Given the description of an element on the screen output the (x, y) to click on. 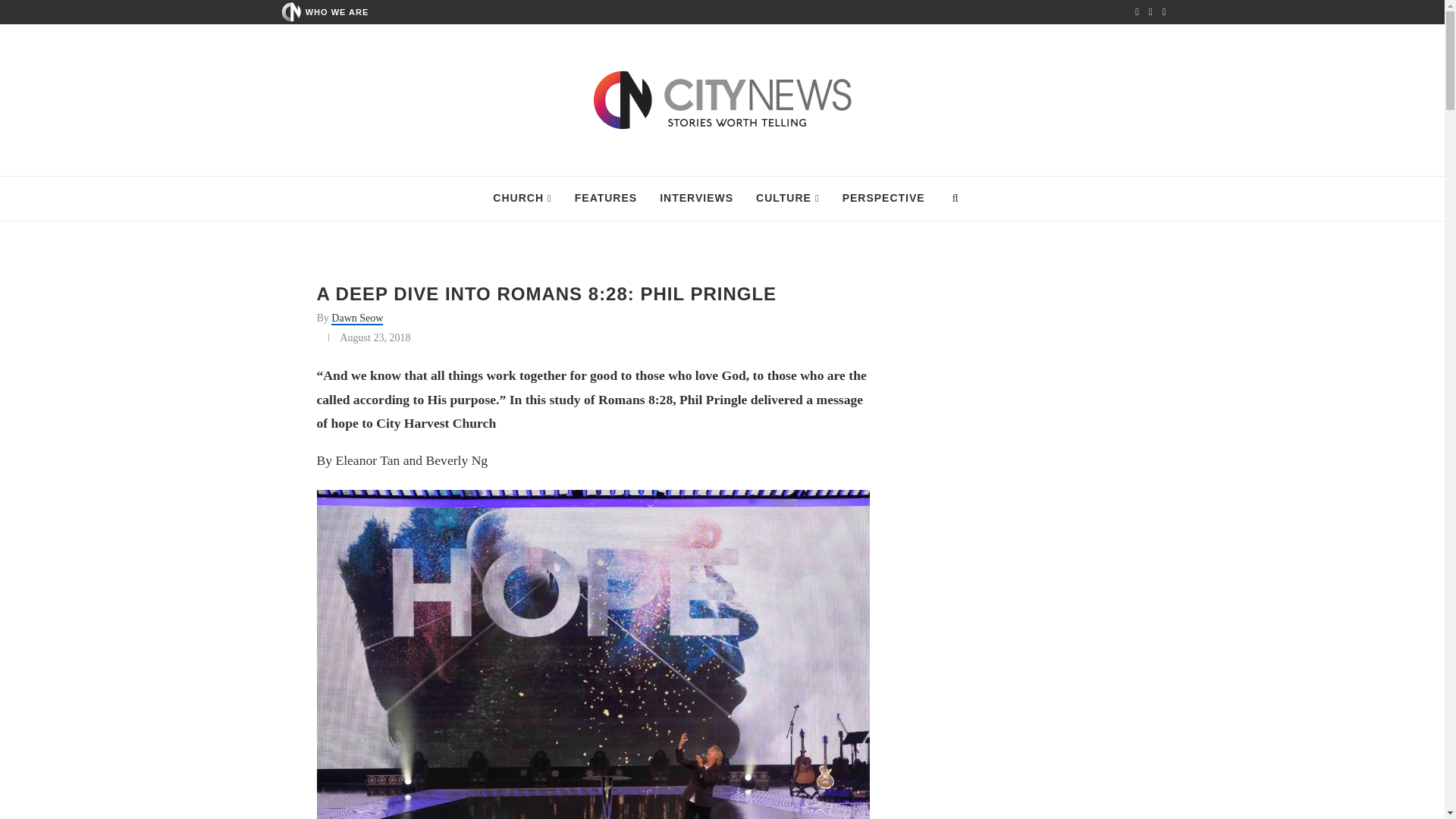
PERSPECTIVE (883, 198)
CULTURE (787, 198)
Posts by Dawn Seow (356, 318)
WHO WE ARE (337, 11)
INTERVIEWS (695, 198)
CHURCH (521, 198)
FEATURES (605, 198)
Dawn Seow (356, 318)
